Given the description of an element on the screen output the (x, y) to click on. 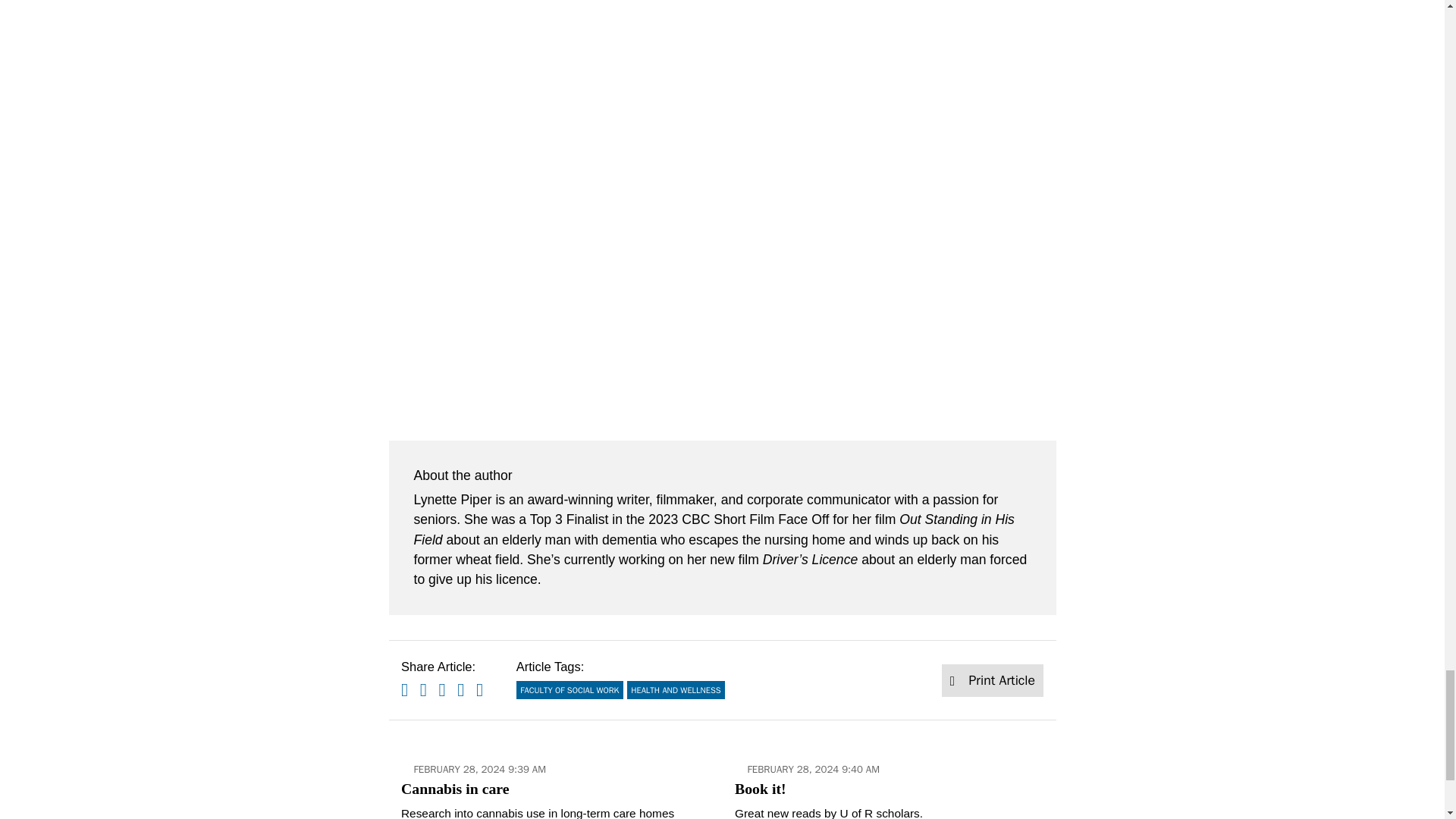
Book it! (888, 782)
Cannabis in care (555, 782)
FACULTY OF SOCIAL WORK (569, 689)
